Given the description of an element on the screen output the (x, y) to click on. 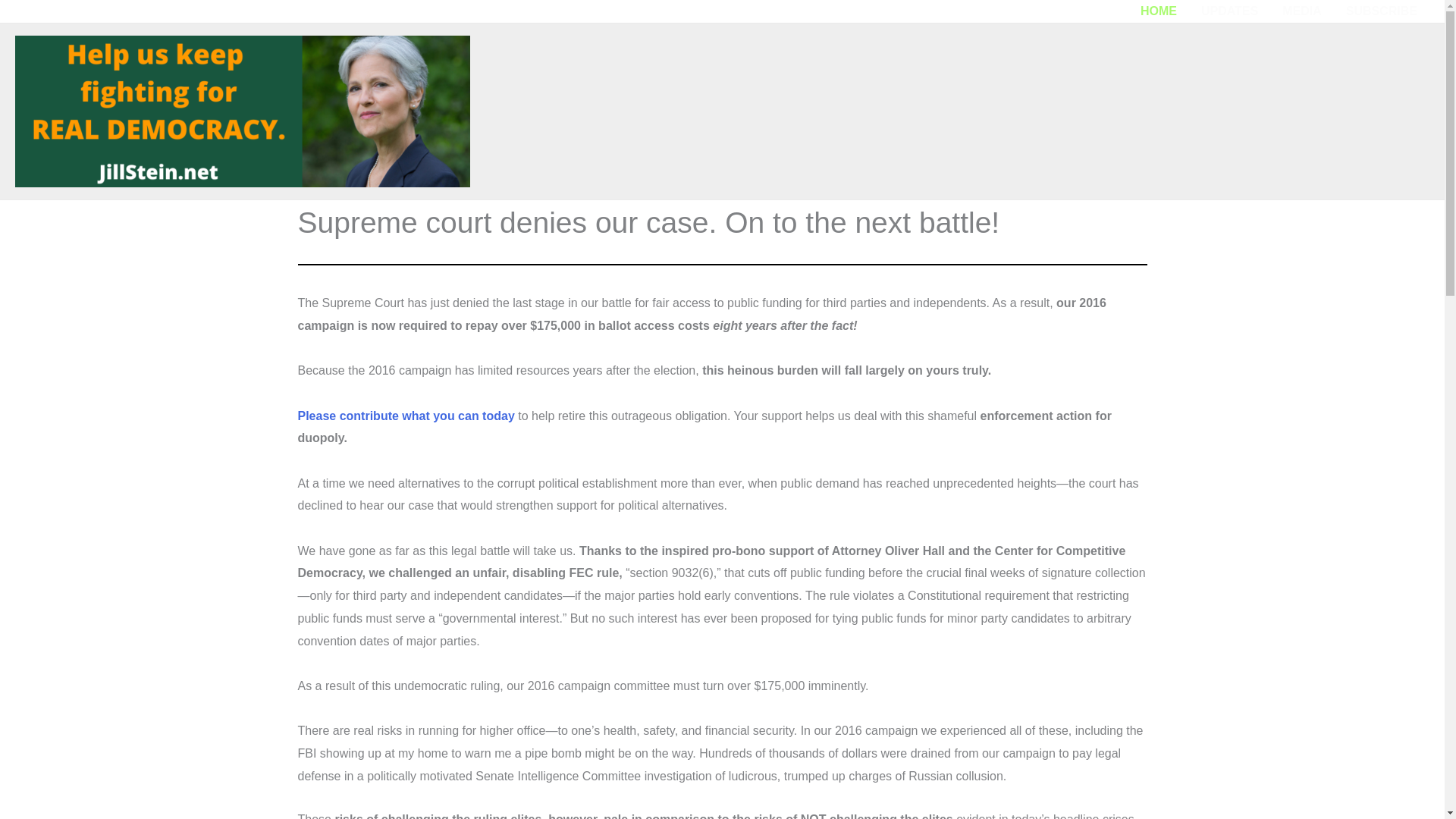
UPDATES (1229, 11)
MEDIA (1301, 11)
HOME (1158, 11)
SUBSCRIBE (1381, 11)
Please contribute what you can today (405, 415)
